Given the description of an element on the screen output the (x, y) to click on. 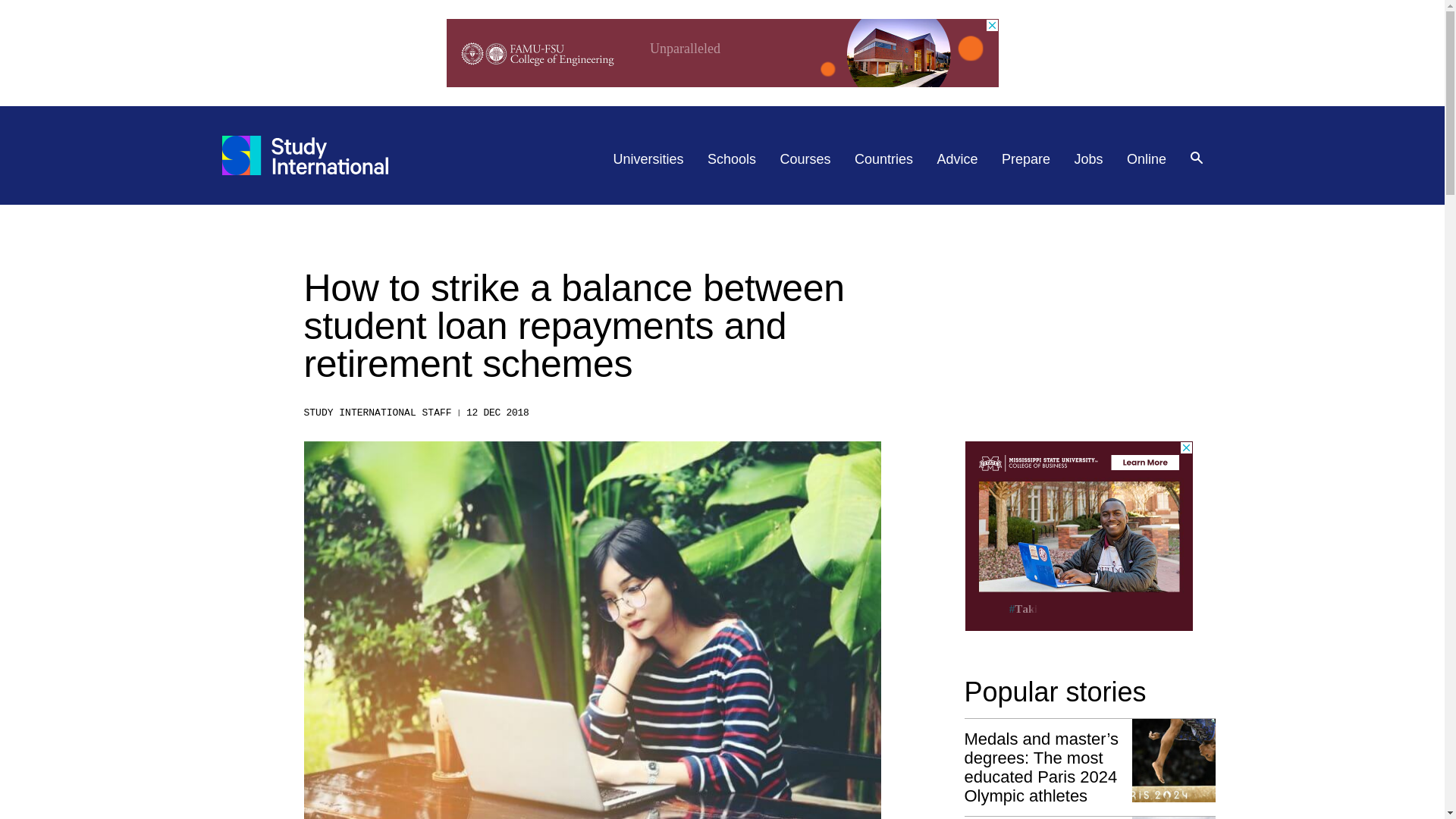
Online (1146, 159)
Courses (805, 159)
Advice (957, 159)
Prepare (1025, 159)
Universities (648, 159)
Jobs (1088, 159)
Schools (731, 159)
STUDY INTERNATIONAL STAFF (376, 412)
Countries (883, 159)
3rd party ad content (721, 52)
